Given the description of an element on the screen output the (x, y) to click on. 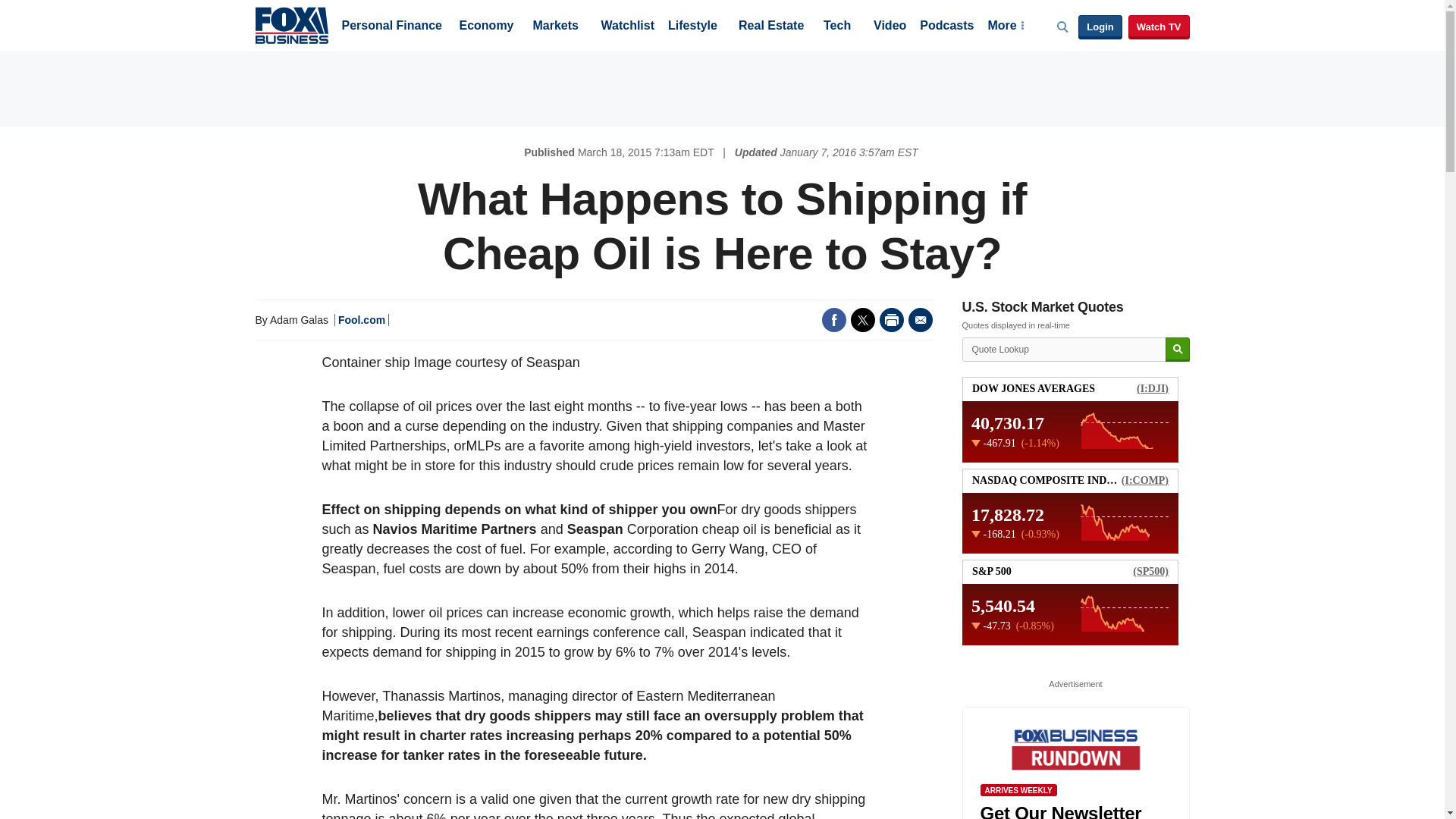
Fox Business (290, 24)
Search (1176, 349)
Search (1176, 349)
Real Estate (770, 27)
Lifestyle (692, 27)
More (1005, 27)
Market Index Charts (1075, 510)
Podcasts (947, 27)
Watch TV (1158, 27)
Watchlist (626, 27)
Markets (555, 27)
Login (1099, 27)
Economy (486, 27)
Personal Finance (391, 27)
Video (889, 27)
